Given the description of an element on the screen output the (x, y) to click on. 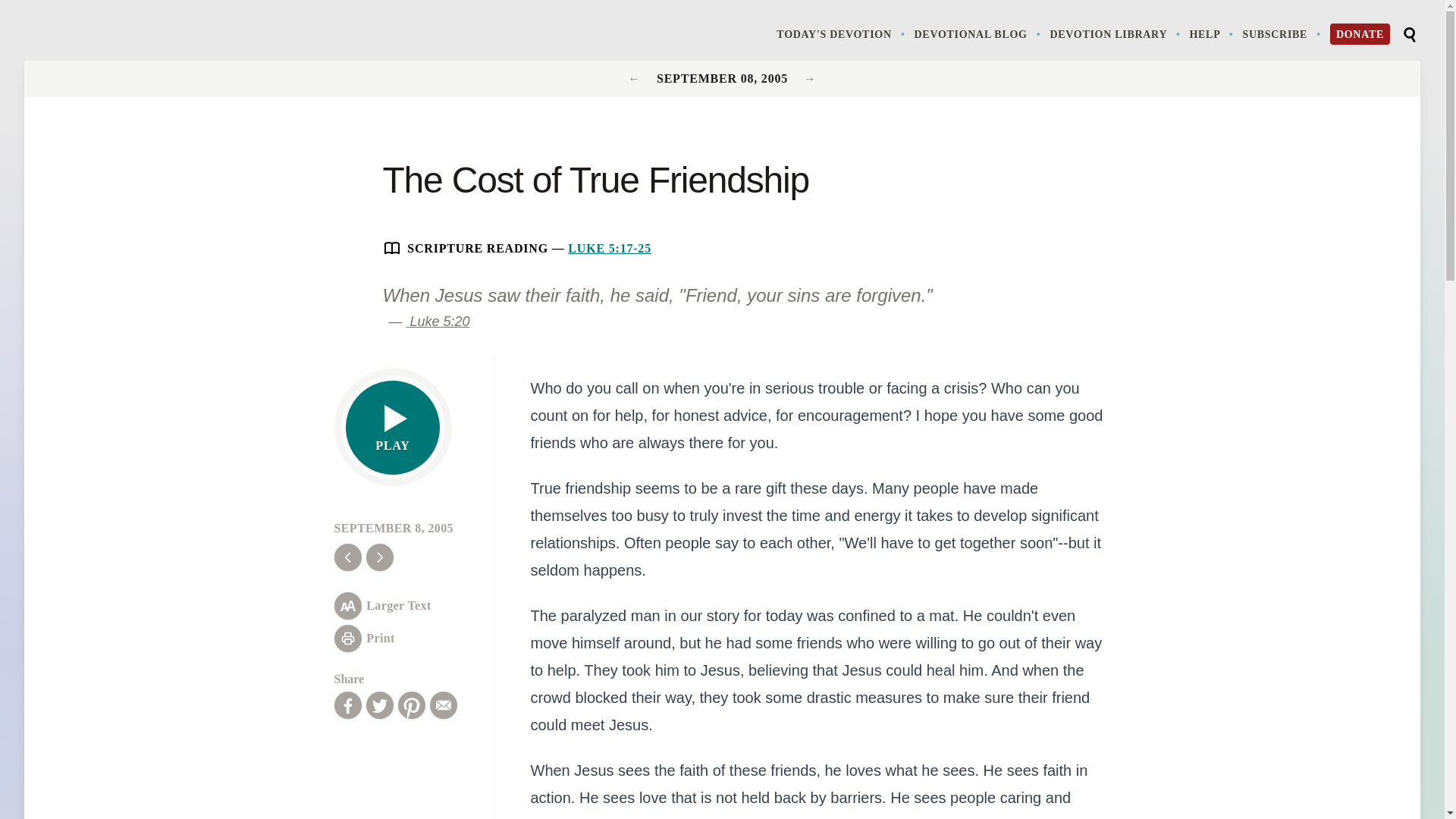
HELP (1212, 34)
PLAY (392, 427)
TODAY'S DEVOTION (841, 34)
Luke 5:20 (438, 321)
DONATE (1360, 34)
Share by Email (443, 705)
Larger Text (381, 605)
Share on Twitter (379, 705)
SUBSCRIBE (1282, 34)
Print (363, 637)
DEVOTIONAL BLOG (978, 34)
Share on Twitter (379, 705)
DEVOTION LIBRARY (1115, 34)
Share by Email (443, 705)
Search (1409, 34)
